Given the description of an element on the screen output the (x, y) to click on. 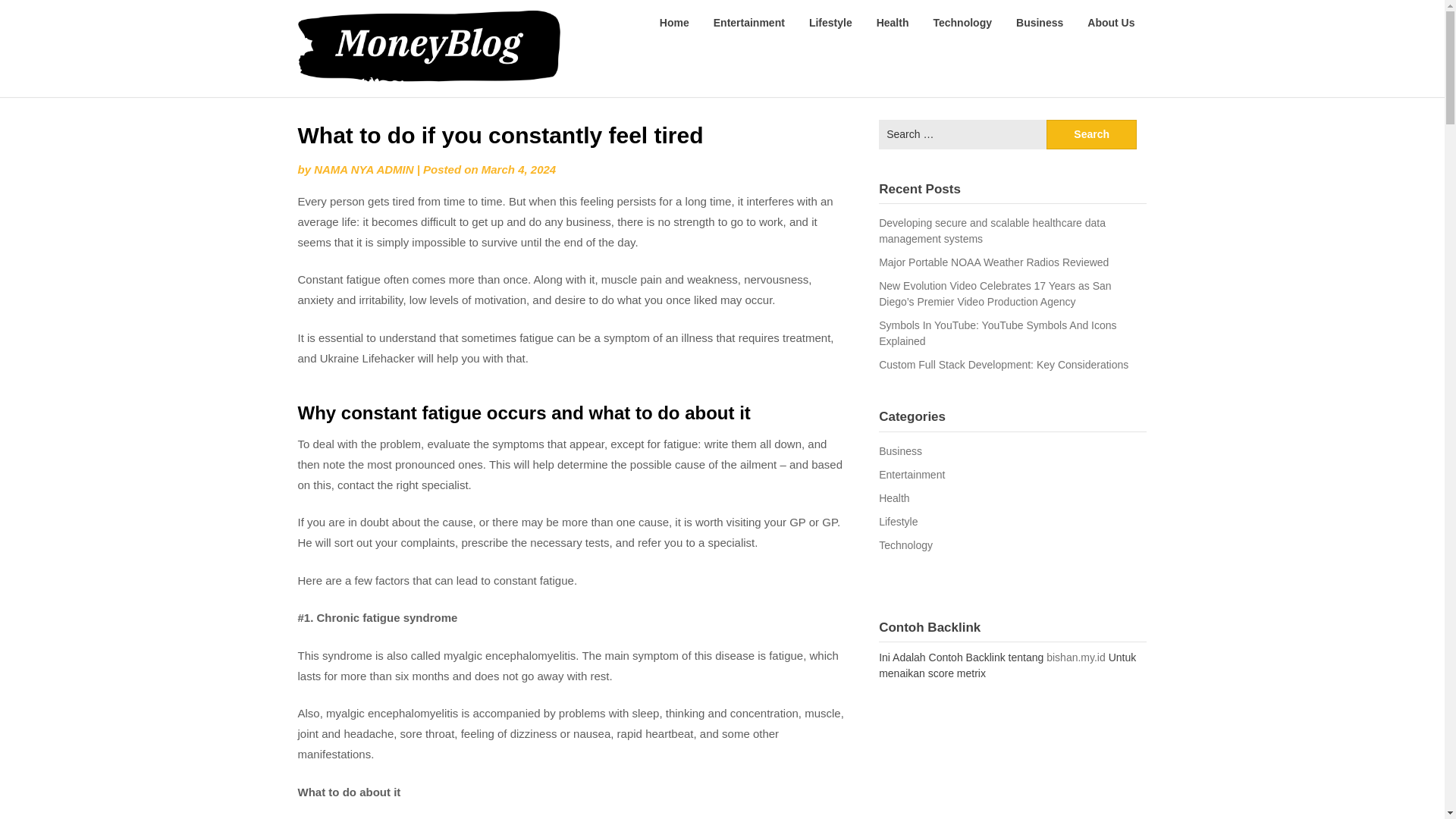
Symbols In YouTube: YouTube Symbols And Icons Explained (997, 333)
Search (1091, 134)
Business (1039, 22)
Health (892, 22)
Entertainment (748, 22)
Home (674, 22)
NAMA NYA ADMIN (363, 169)
Entertainment (911, 474)
Health (893, 498)
